Given the description of an element on the screen output the (x, y) to click on. 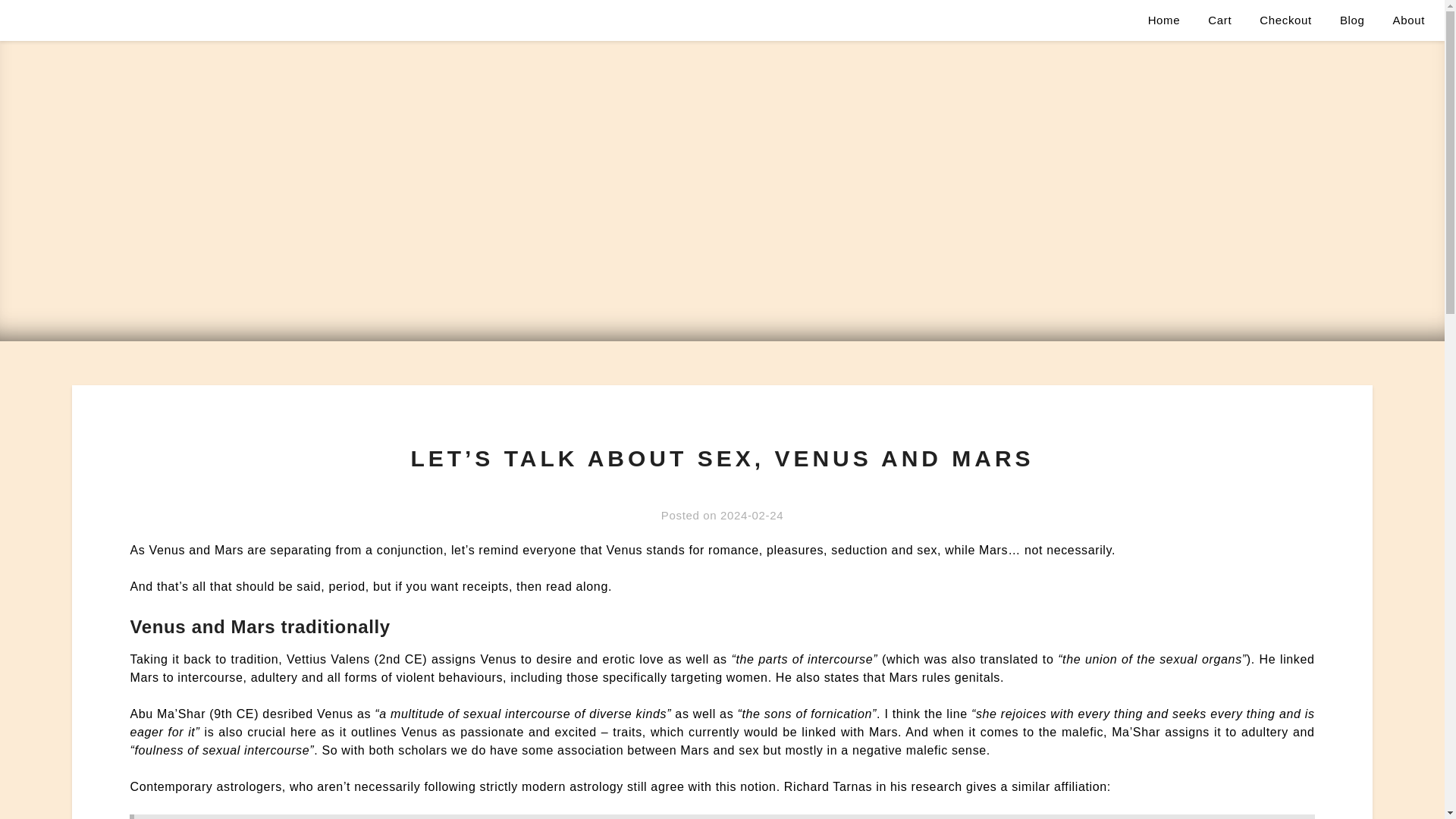
Blog (1352, 20)
MERCURY TRINE MOON ASTROLOGY (165, 19)
2024-02-24 (751, 514)
Checkout (1285, 20)
About (1408, 20)
Cart (1219, 20)
Home (1163, 20)
